Given the description of an element on the screen output the (x, y) to click on. 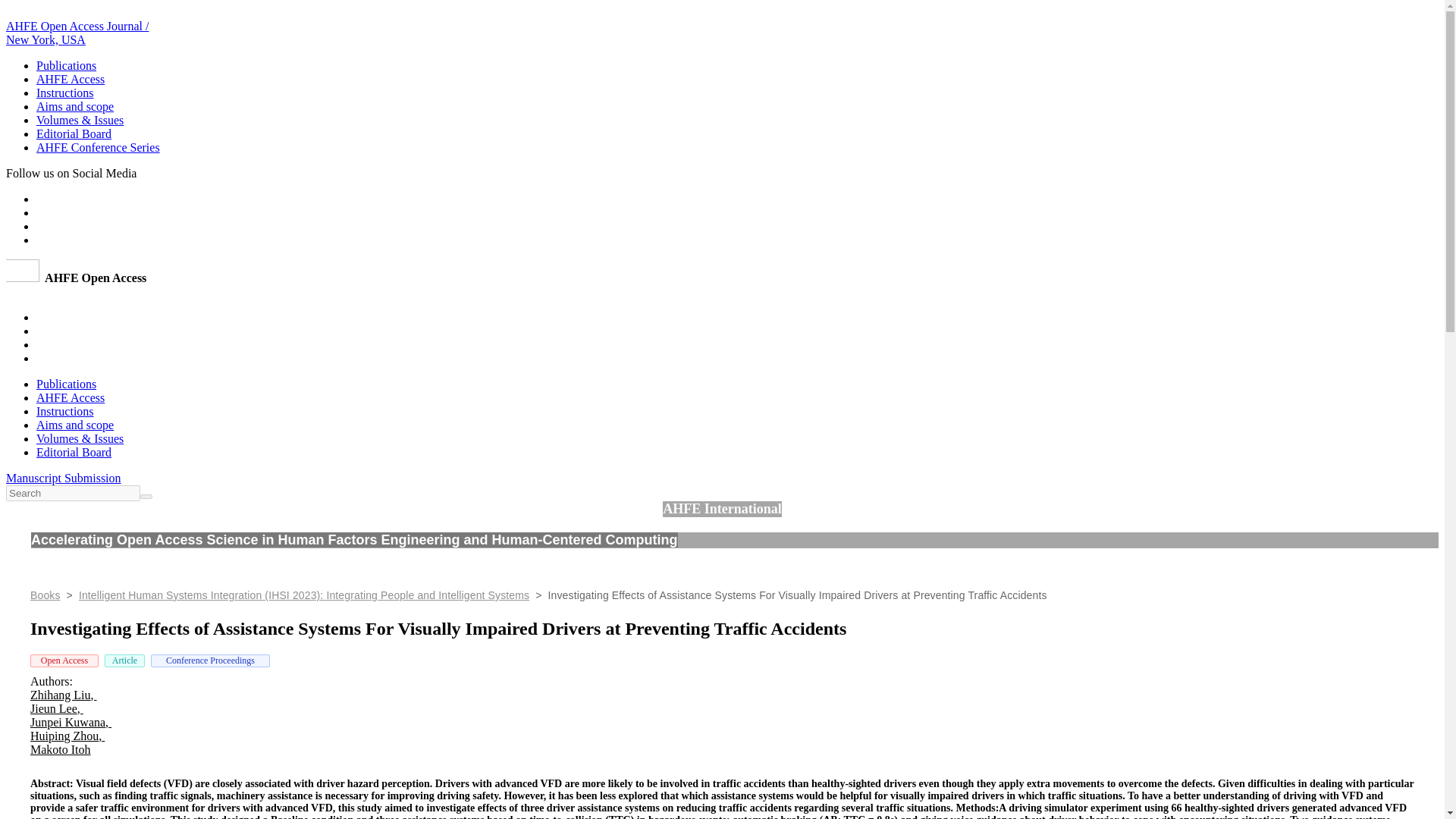
Instructions (65, 410)
Editorial Board (74, 133)
AHFE Access (70, 397)
Editorial Board (74, 451)
Aims and scope (74, 106)
Books (45, 594)
Publications (66, 383)
Instructions (65, 92)
Aims and scope (74, 424)
AHFE Conference Series (98, 146)
Publications (66, 65)
Manuscript Submission (62, 477)
AHFE Access (70, 78)
